Given the description of an element on the screen output the (x, y) to click on. 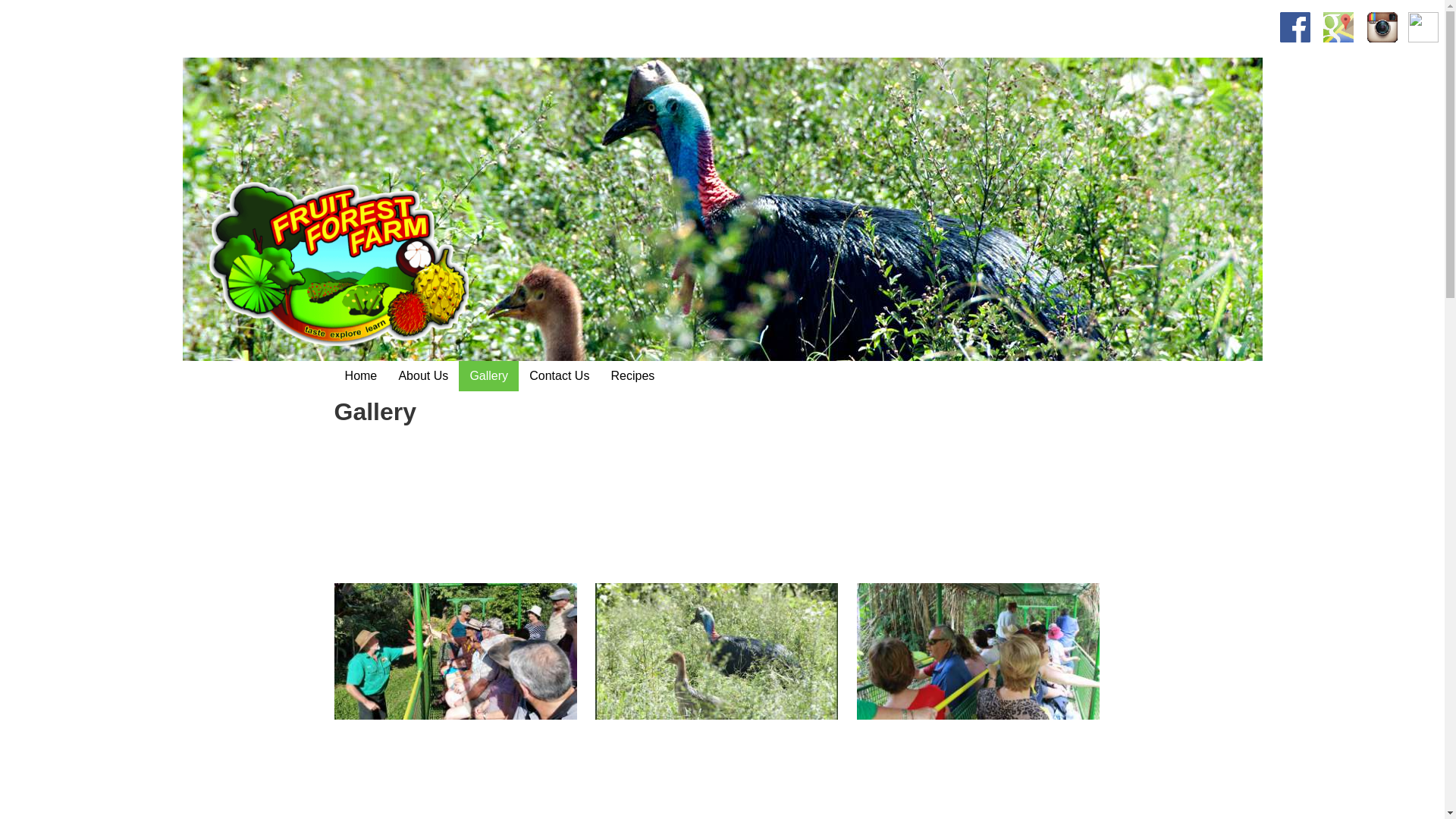
Home Element type: hover (324, 265)
About Us Element type: text (422, 375)
Jump to navigation Element type: text (722, 2)
Follow our Instagram Element type: hover (1382, 27)
Home Element type: text (360, 375)
Contact Us Element type: text (558, 375)
Recipes Element type: text (632, 375)
Gallery Element type: text (488, 375)
Like our Facebook Element type: hover (1295, 27)
View our Google Maps Element type: hover (1338, 27)
Cassowary with chick Element type: hover (716, 651)
